Given the description of an element on the screen output the (x, y) to click on. 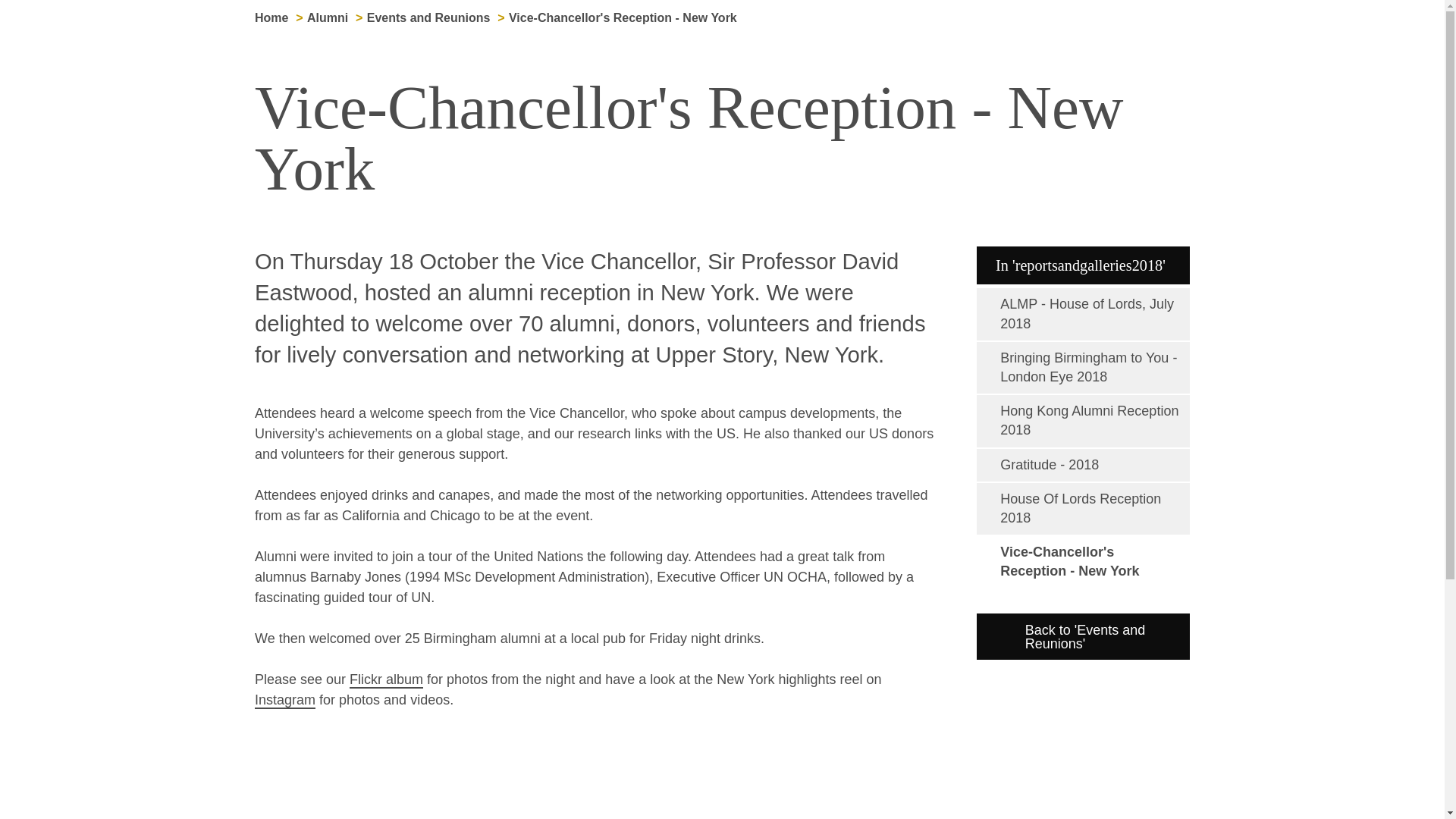
Back to 'Events and Reunions' (1082, 636)
Instagram (284, 700)
Alumni (327, 18)
Events and Reunions (428, 18)
Home (271, 18)
House Of Lords Reception 2018 (1082, 508)
Flickr album (386, 679)
Vice-Chancellor's Reception - New York (622, 18)
Hong Kong Alumni Reception 2018 (1082, 420)
Bringing Birmingham to You - London Eye 2018 (1082, 367)
